Given the description of an element on the screen output the (x, y) to click on. 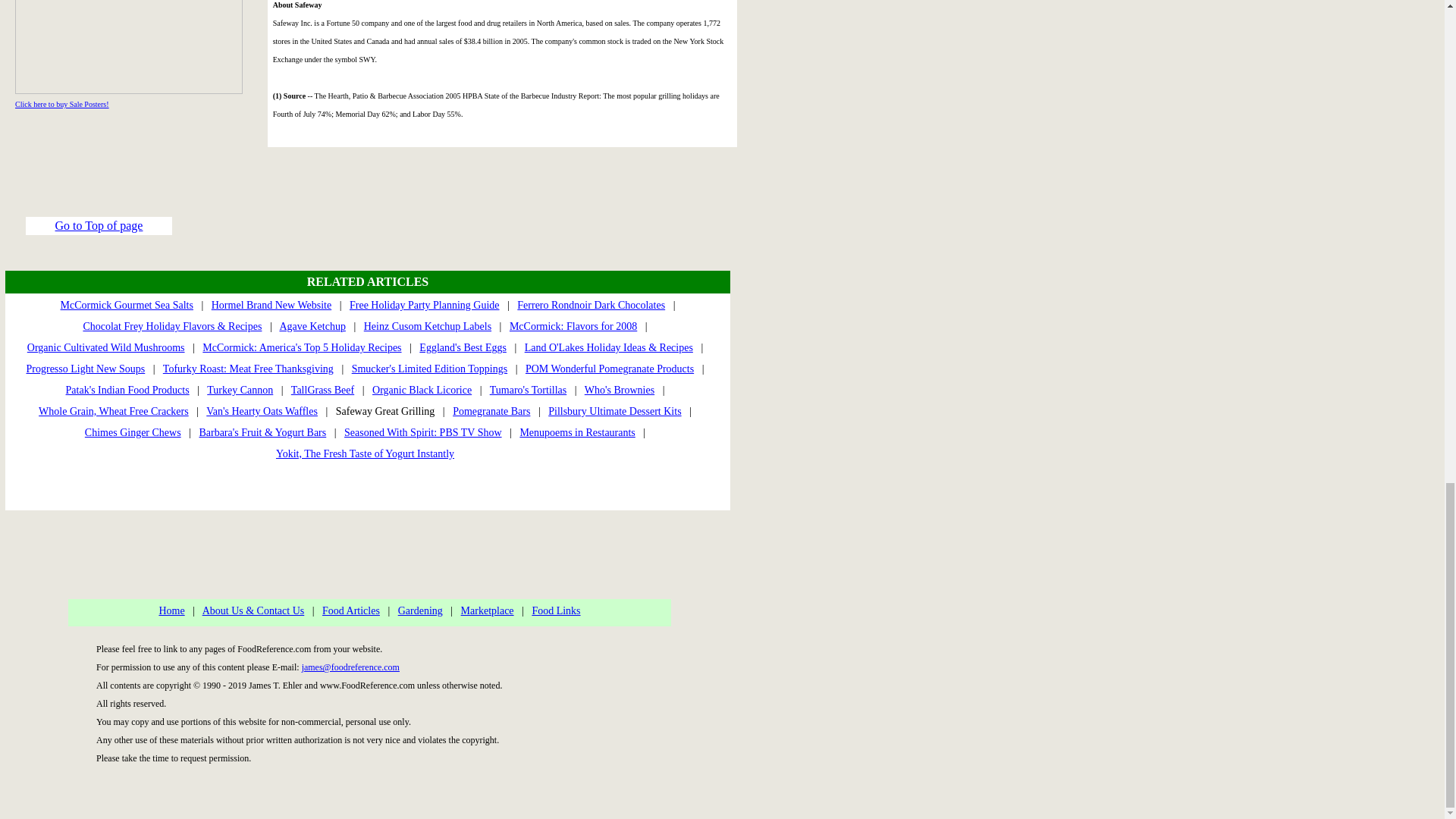
McCormick Gourmet Sea Salts (127, 305)
Agave Ketchup (312, 326)
Ferrero Rondnoir Dark Chocolates (590, 305)
Go to Top of page (98, 225)
Hormel Brand New Website (271, 305)
Click here to buy Sale Posters! (61, 103)
Heinz Cusom Ketchup Labels (428, 326)
Free Holiday Party Planning Guide (424, 305)
McCormick: Flavors for 2008 (573, 326)
Organic Cultivated Wild Mushrooms (105, 347)
